Given the description of an element on the screen output the (x, y) to click on. 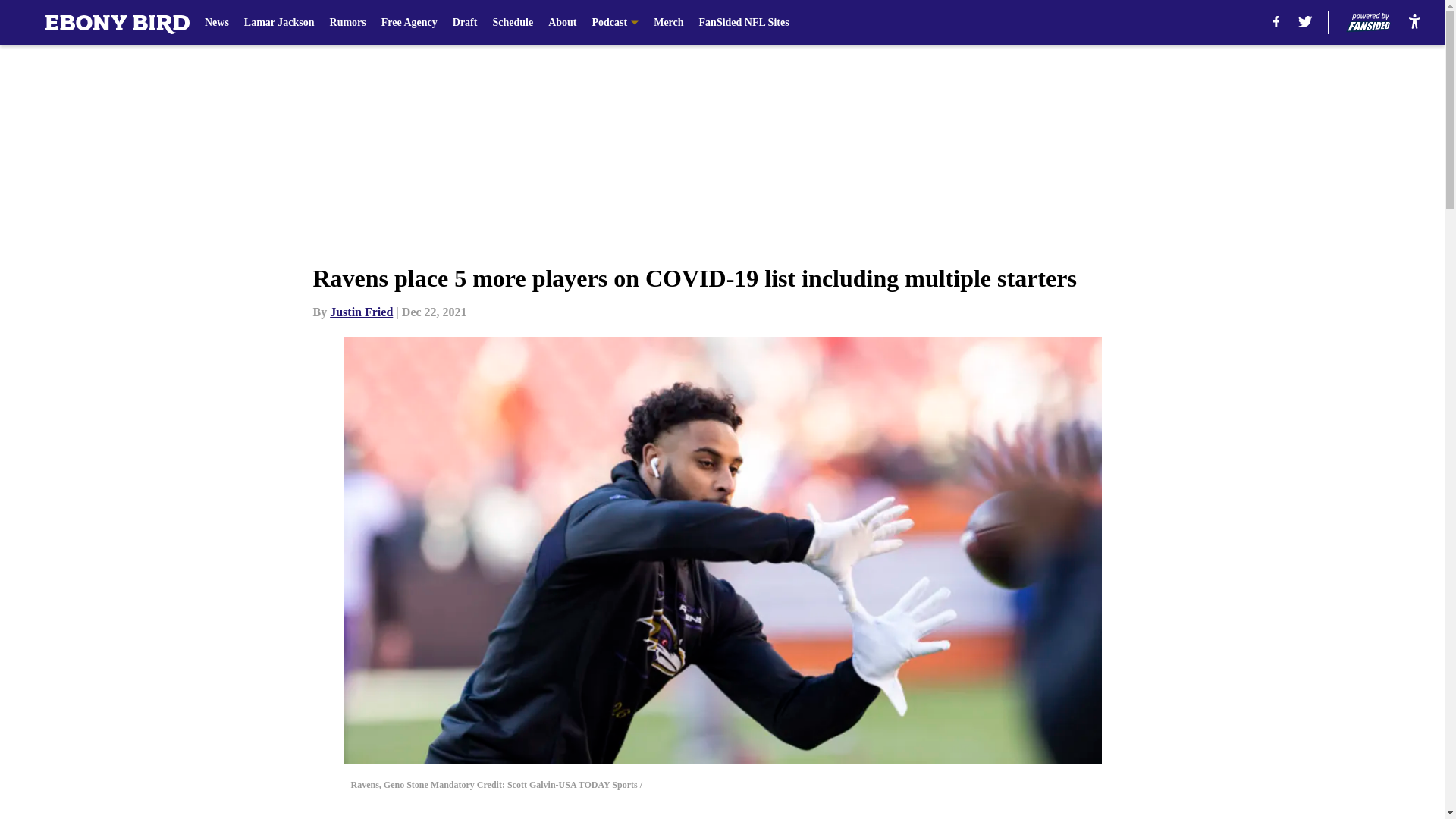
Rumors (348, 22)
FanSided NFL Sites (743, 22)
Lamar Jackson (279, 22)
Schedule (512, 22)
Draft (464, 22)
Merch (667, 22)
About (562, 22)
Free Agency (409, 22)
Justin Fried (361, 311)
News (216, 22)
